Given the description of an element on the screen output the (x, y) to click on. 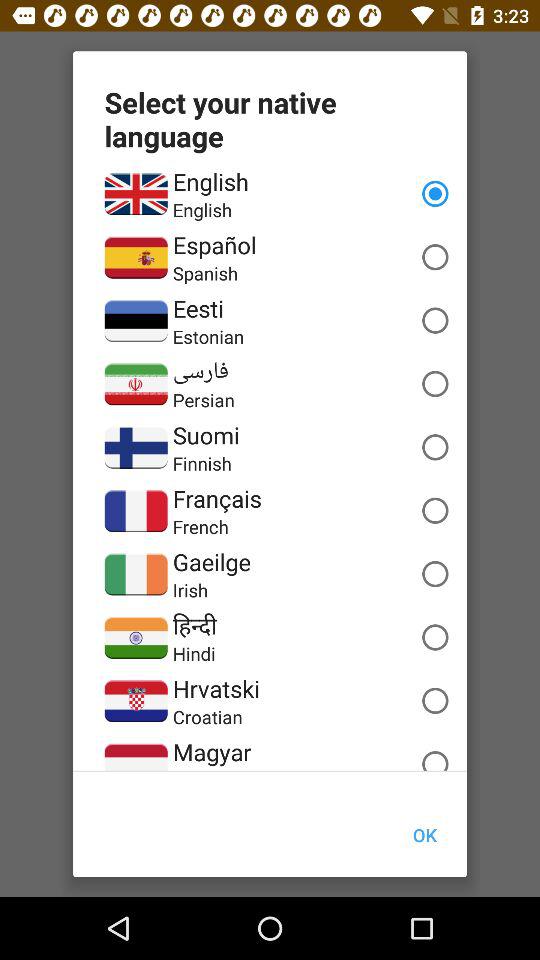
choose the irish item (190, 589)
